Given the description of an element on the screen output the (x, y) to click on. 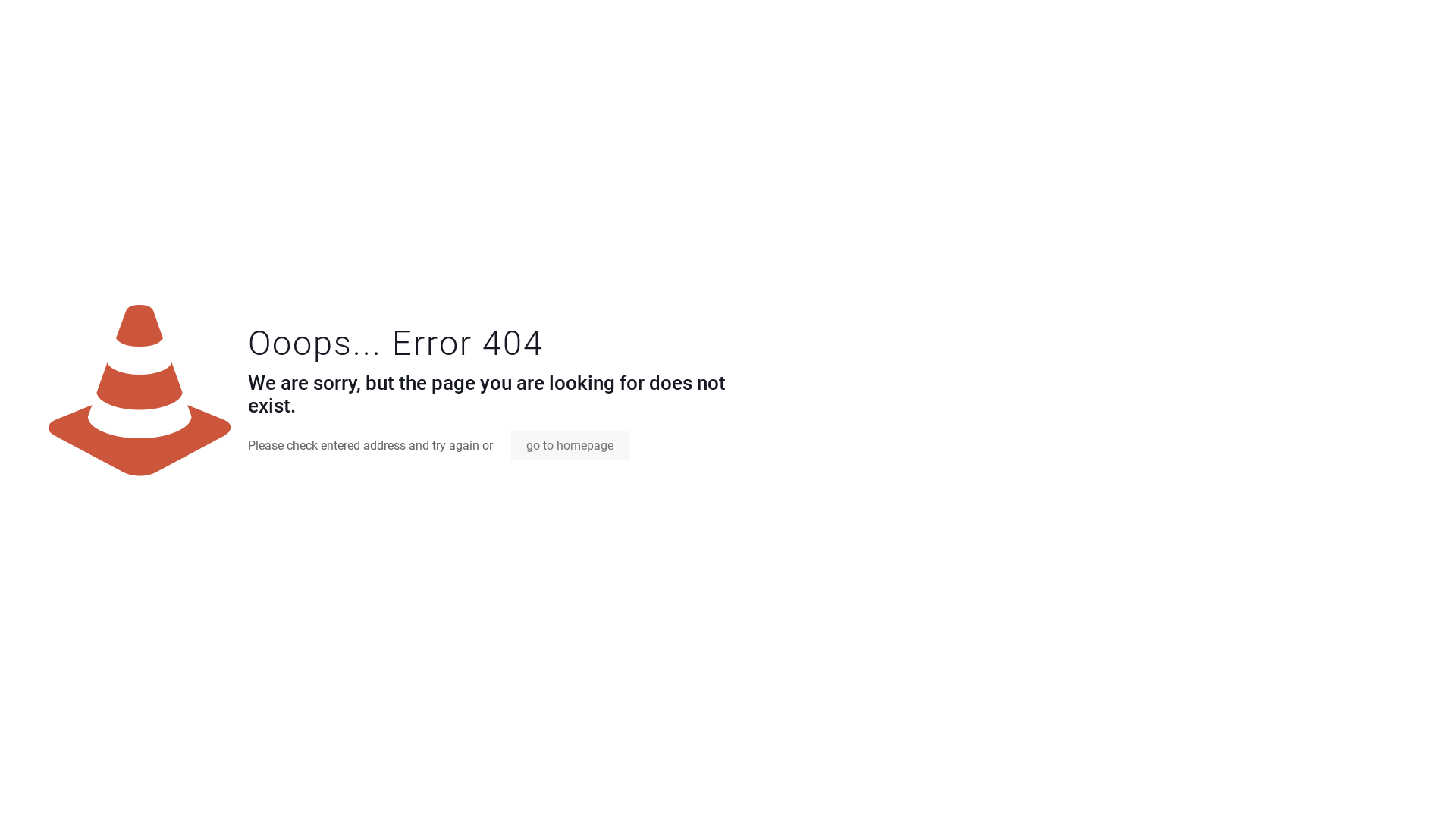
go to homepage Element type: text (569, 445)
